Given the description of an element on the screen output the (x, y) to click on. 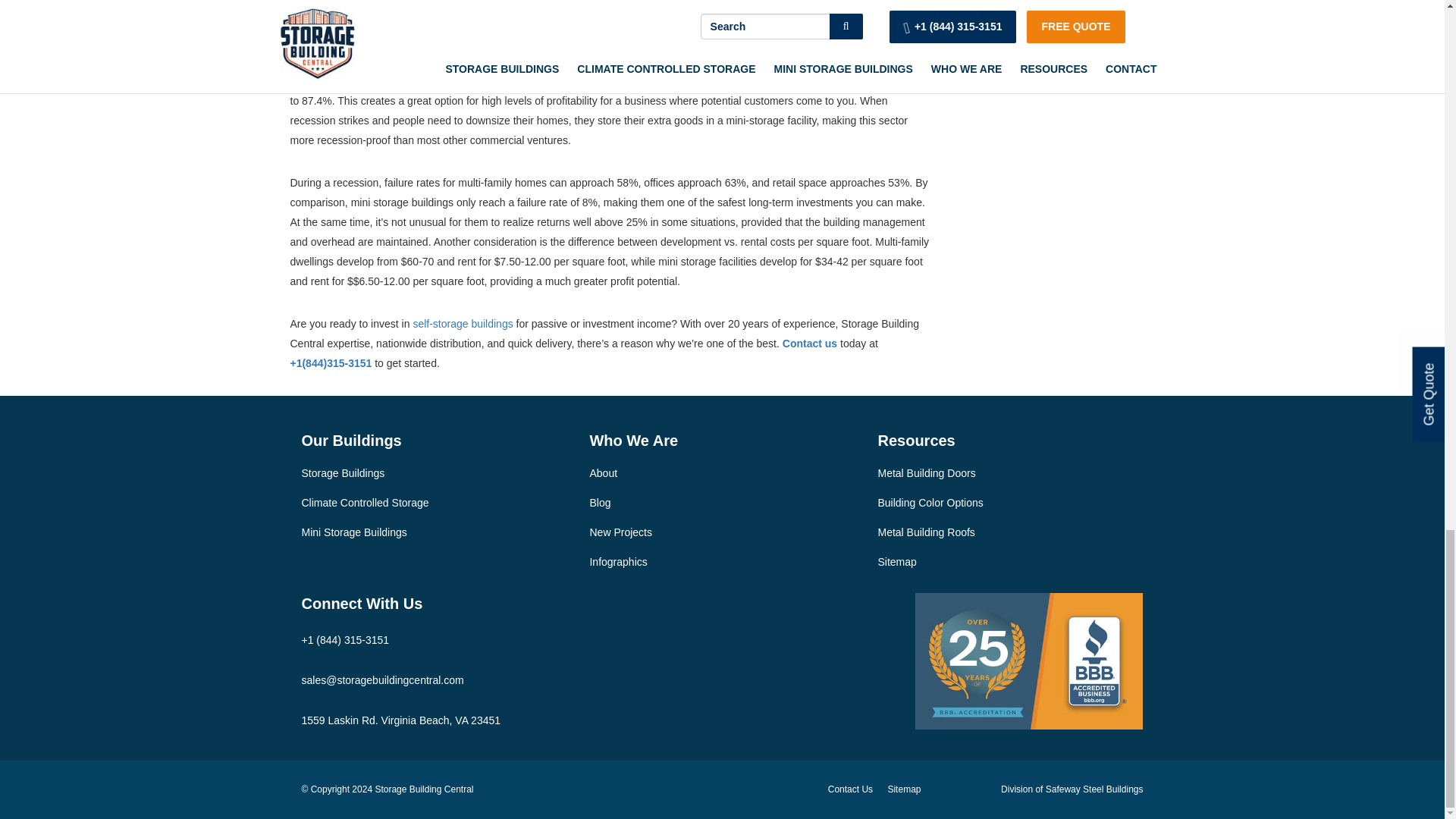
About (603, 472)
Blog (599, 502)
Climate Controlled Storage (365, 502)
Storage Buildings (343, 472)
self-storage buildings (462, 323)
Contact us (810, 343)
New Projects (619, 532)
Mini Storage Buildings (354, 532)
